Given the description of an element on the screen output the (x, y) to click on. 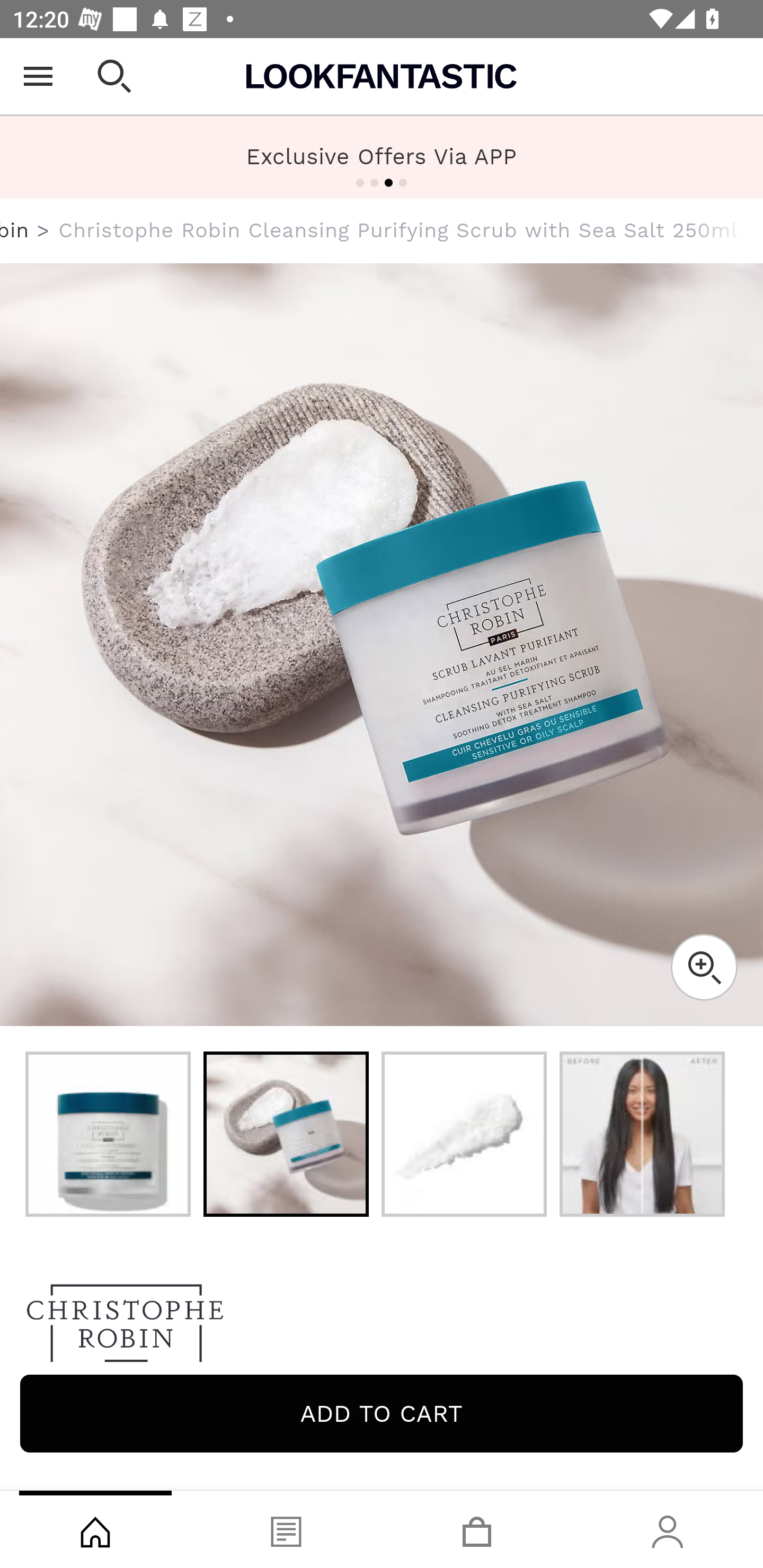
Open Menu (38, 75)
Open search (114, 75)
Lookfantastic USA (381, 75)
Christophe Robin (15, 230)
Zoom (703, 966)
Christophe Robin (381, 1327)
Add to cart (381, 1413)
Shop, tab, 1 of 4 (95, 1529)
Blog, tab, 2 of 4 (285, 1529)
Basket, tab, 3 of 4 (476, 1529)
Account, tab, 4 of 4 (667, 1529)
